Given the description of an element on the screen output the (x, y) to click on. 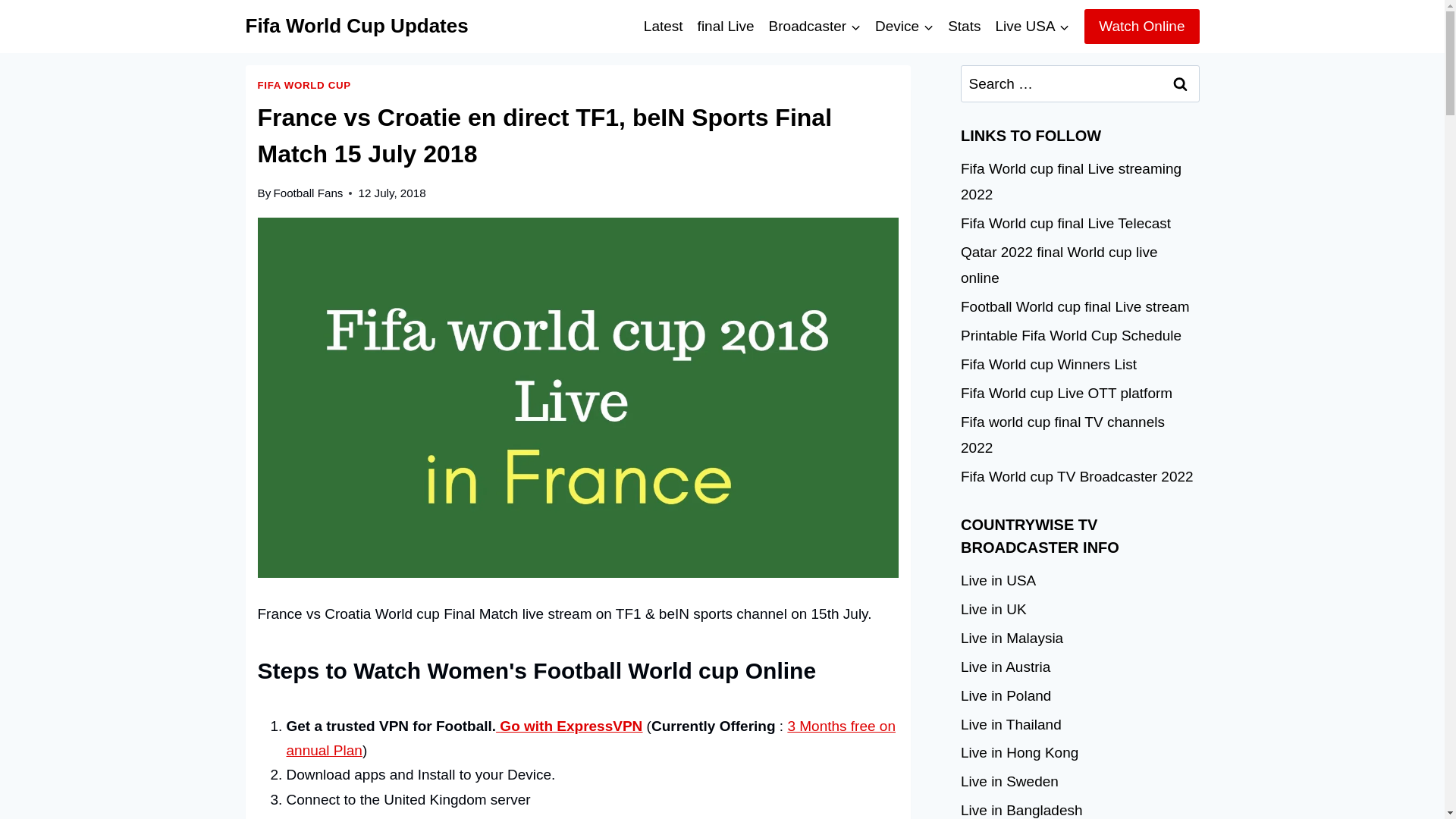
Search (1180, 83)
Search (1180, 83)
Fifa World Cup Updates (357, 25)
3 Months free on annual Plan (590, 738)
Latest (663, 25)
Stats (964, 25)
Fifa World cup Live on Various Device  (903, 25)
Device (903, 25)
FIFA WORLD CUP (303, 84)
final Live (725, 25)
